Given the description of an element on the screen output the (x, y) to click on. 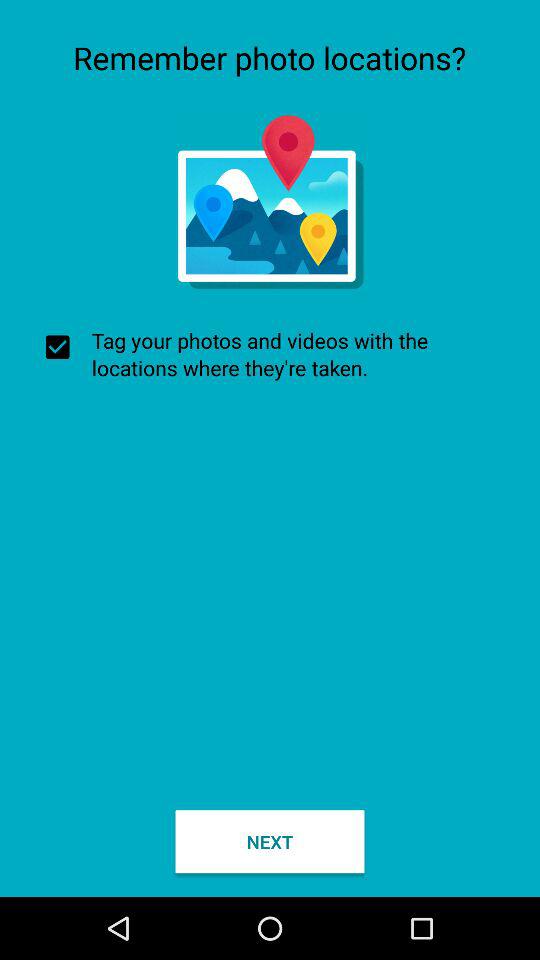
turn off checkbox below tag your photos icon (269, 841)
